Given the description of an element on the screen output the (x, y) to click on. 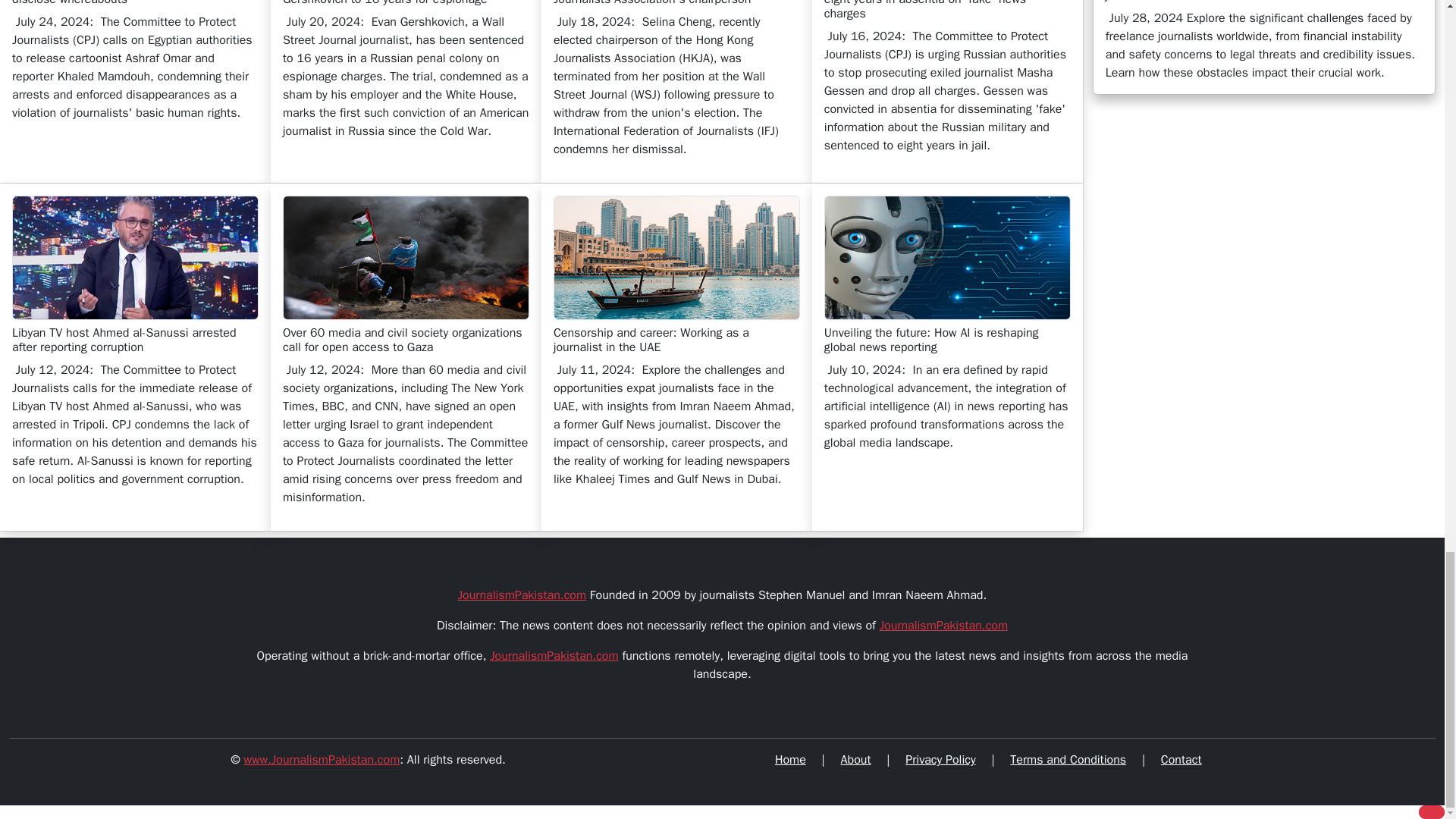
Censorship and career: Working as a journalist in the UAE (676, 257)
